Given the description of an element on the screen output the (x, y) to click on. 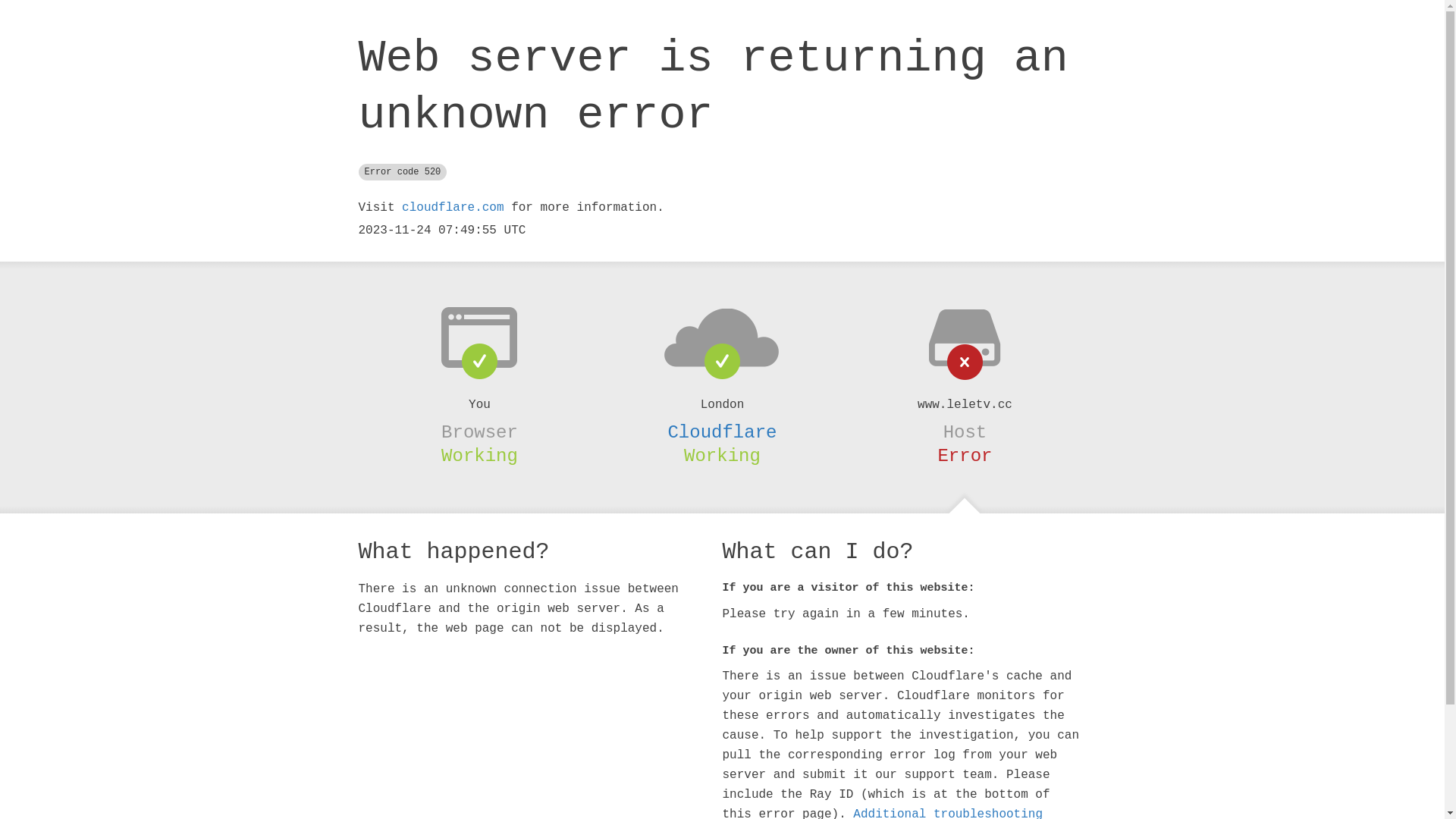
cloudflare.com Element type: text (452, 207)
Cloudflare Element type: text (721, 432)
